Given the description of an element on the screen output the (x, y) to click on. 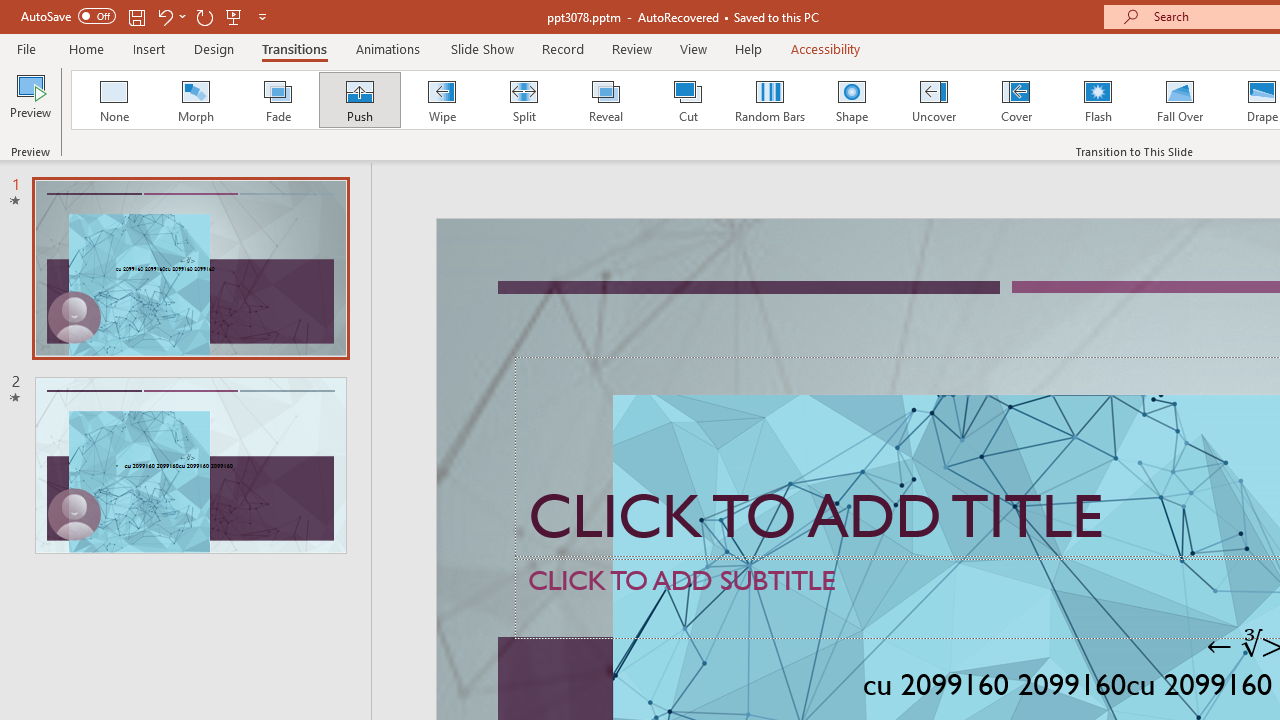
Push (359, 100)
Fade (277, 100)
Cover (1016, 100)
Uncover (934, 100)
Morph (195, 100)
Flash (1098, 100)
Split (523, 100)
